Given the description of an element on the screen output the (x, y) to click on. 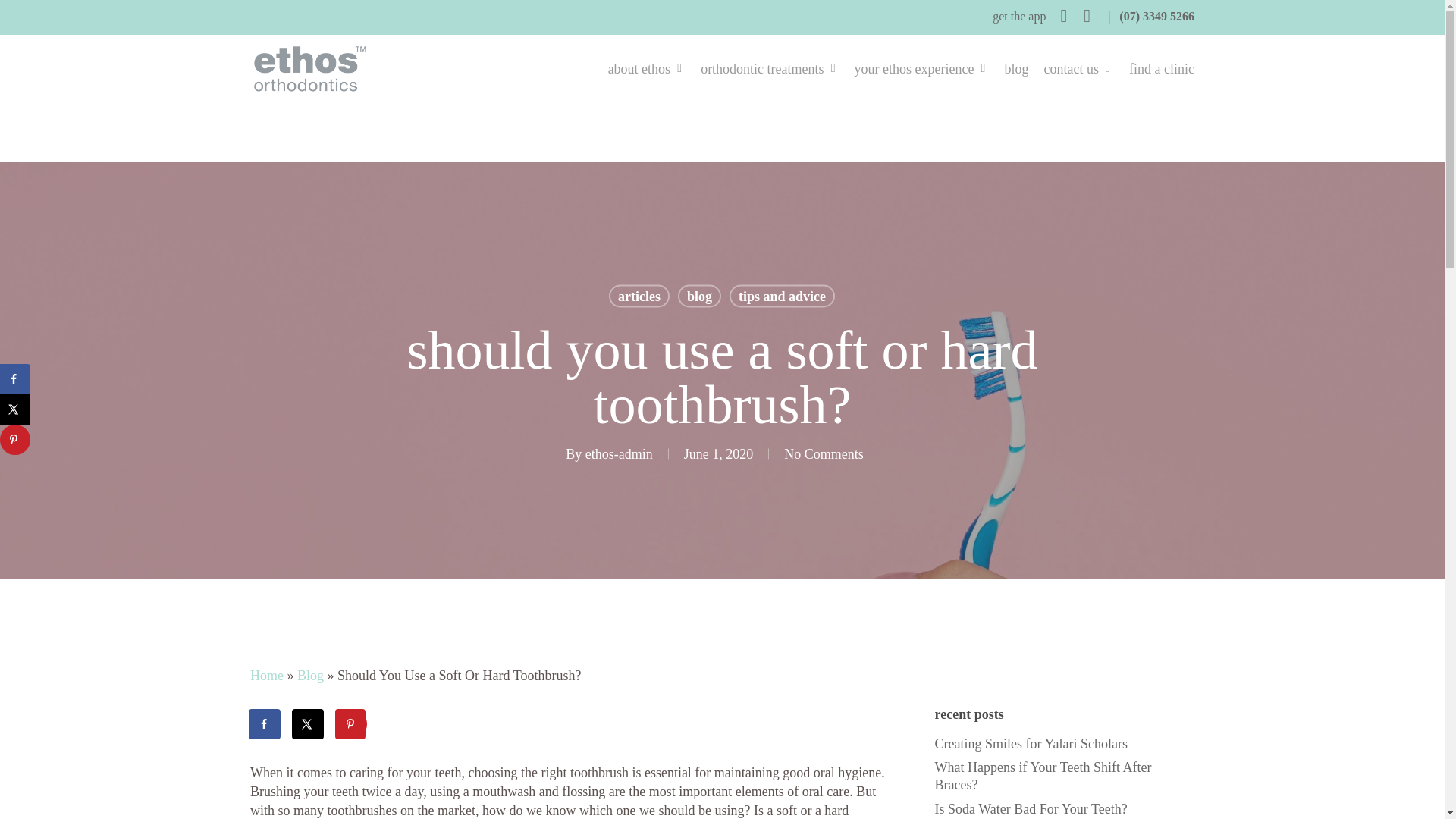
tips and advice (781, 296)
Blog (310, 675)
articles (638, 296)
contact us (1078, 69)
Share on Facebook (15, 378)
Home (266, 675)
No Comments (823, 453)
orthodontic treatments (769, 69)
blog (699, 296)
Share on Facebook (265, 724)
